Given the description of an element on the screen output the (x, y) to click on. 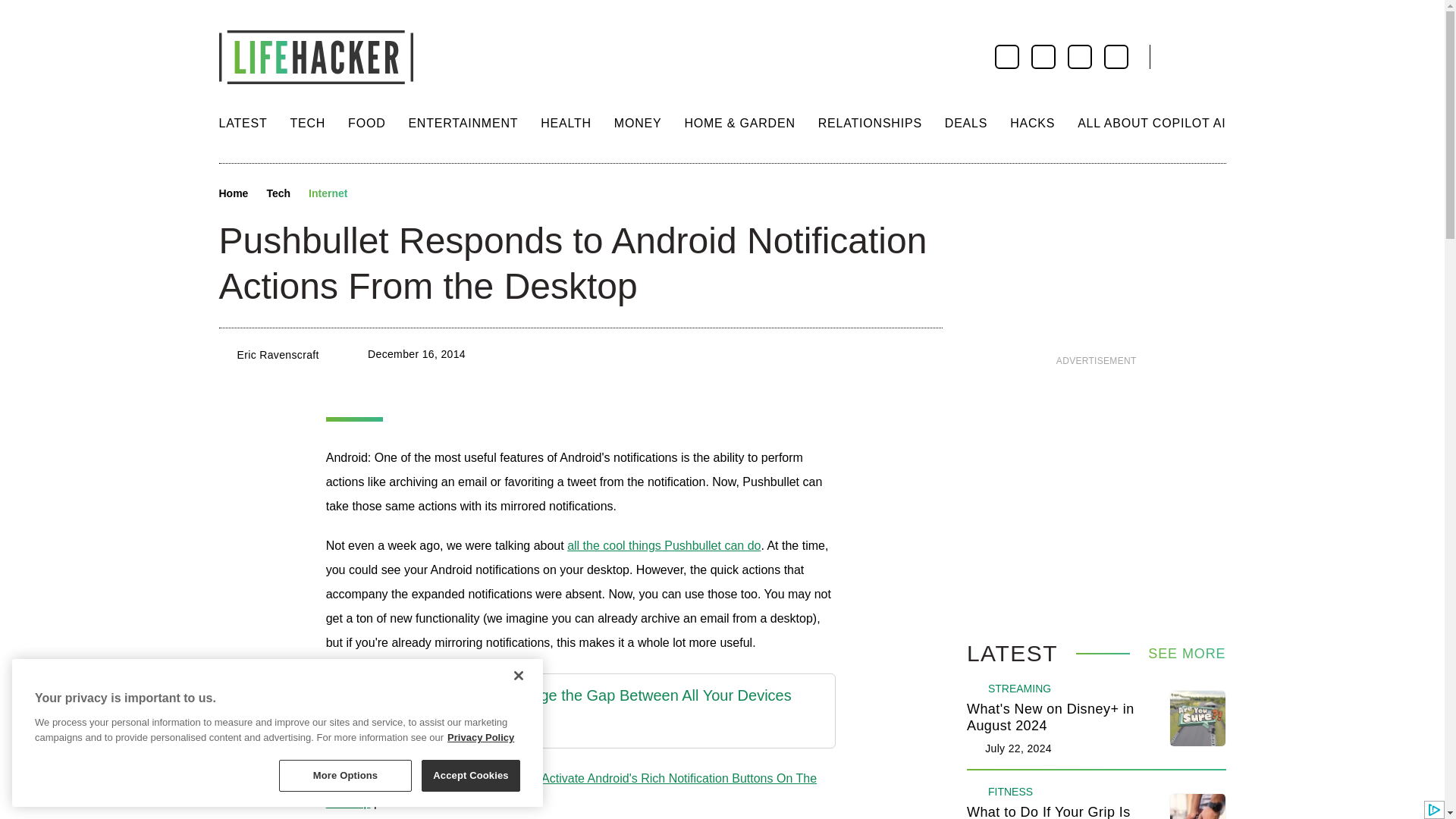
open in a new window (565, 726)
FOOD (366, 123)
TECH (306, 123)
open in a new window (565, 695)
Social Share (373, 193)
HEALTH (565, 123)
ALL ABOUT COPILOT AI (1151, 123)
DEALS (965, 123)
ENTERTAINMENT (462, 123)
Home (232, 193)
MONEY (638, 123)
RELATIONSHIPS (869, 123)
LATEST (242, 123)
HACKS (1032, 123)
Tech (277, 193)
